Given the description of an element on the screen output the (x, y) to click on. 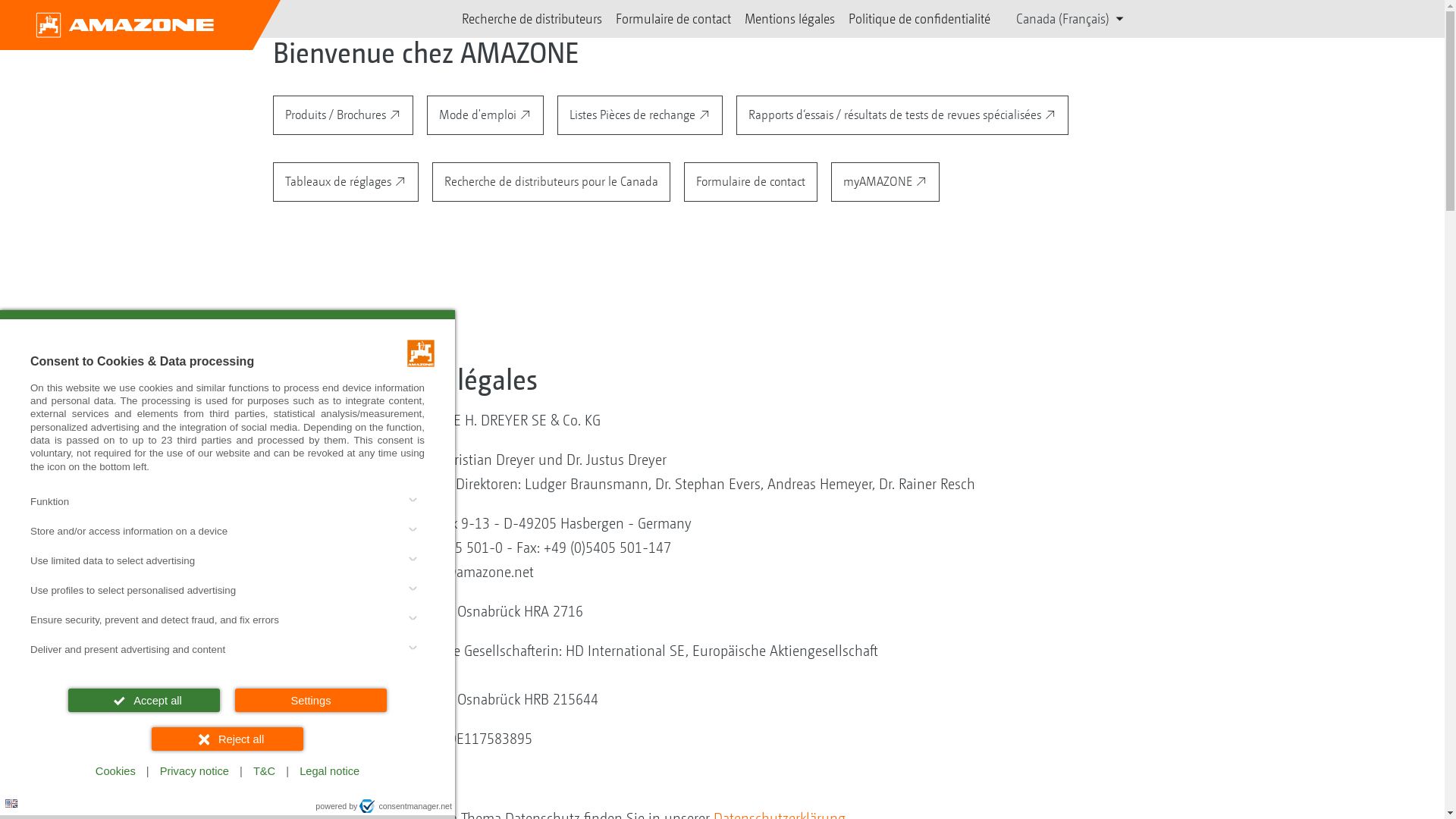
Cookies Element type: text (115, 771)
myAMAZONE Element type: text (885, 181)
Accept all Element type: text (143, 700)
Recherche de distributeurs pour le Canada Element type: text (551, 181)
Reject all Element type: text (227, 738)
Formulaire de contact Element type: text (673, 18)
consentmanager.net Element type: text (405, 805)
Mode d'emploi Element type: text (484, 114)
Legal notice Element type: text (329, 771)
T&C Element type: text (263, 771)
Language: en Element type: hover (11, 803)
Recherche de distributeurs Element type: text (531, 18)
Produits / Brochures Element type: text (343, 114)
Privacy notice Element type: text (194, 771)
Settings Element type: text (310, 700)
Language: en Element type: hover (11, 802)
Formulaire de contact Element type: text (750, 181)
Privacy settings Element type: hover (17, 801)
